Given the description of an element on the screen output the (x, y) to click on. 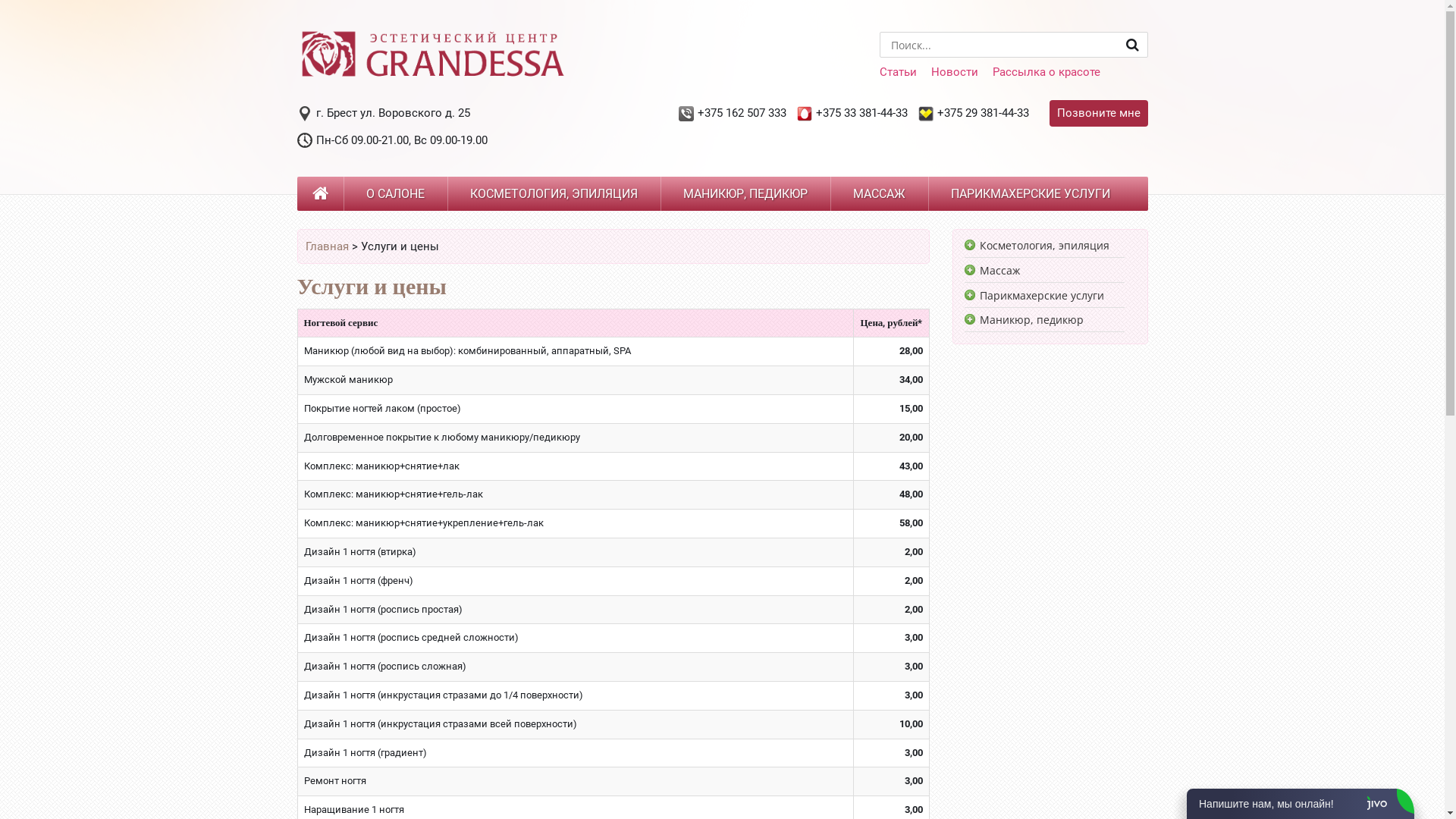
fa fa-home Element type: hover (320, 193)
Grandessa -  Element type: hover (431, 79)
